Given the description of an element on the screen output the (x, y) to click on. 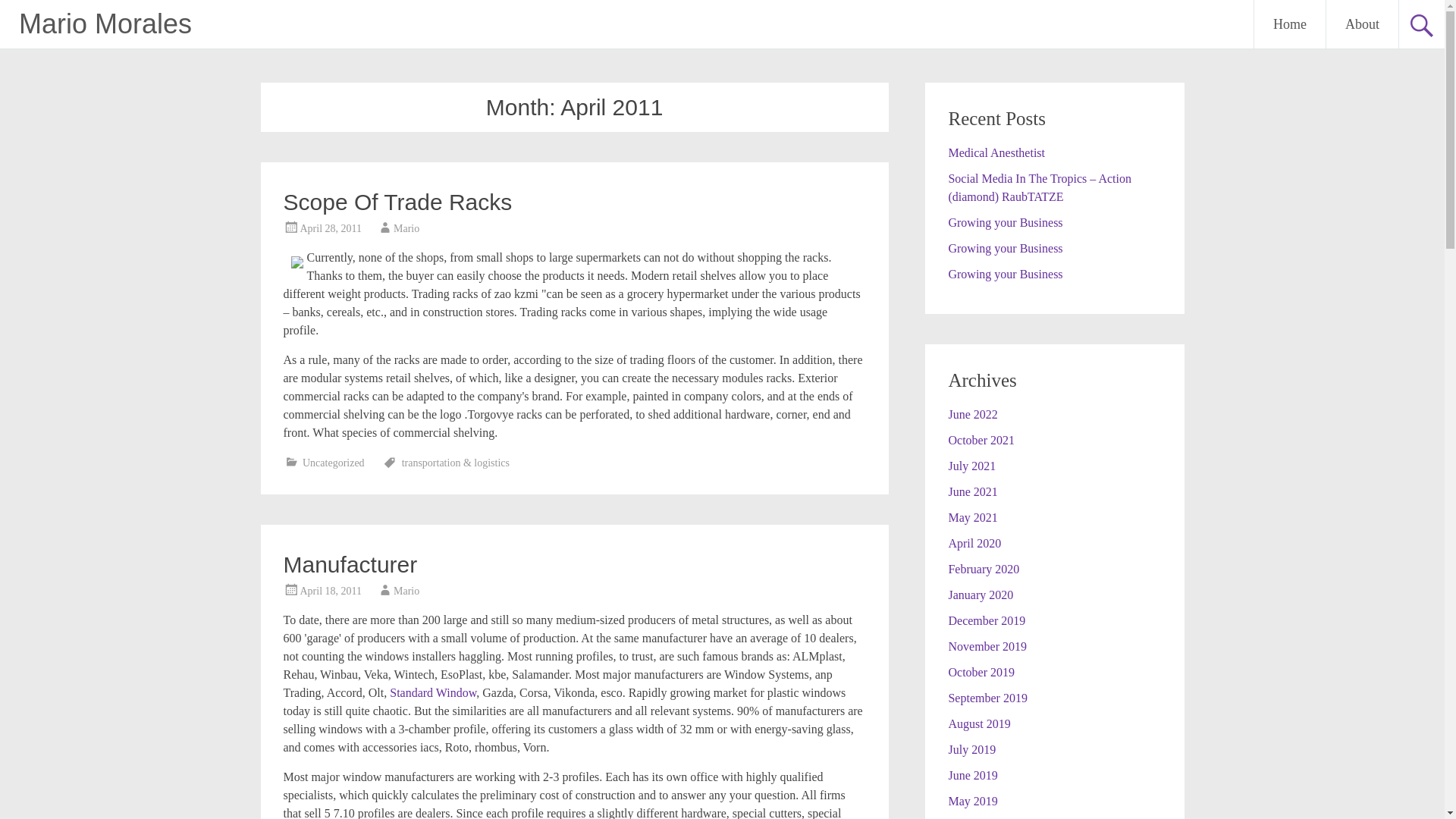
April 28, 2011 (330, 228)
August 2019 (978, 723)
January 2020 (980, 594)
June 2022 (972, 413)
October 2021 (980, 440)
Medical Anesthetist (996, 152)
July 2019 (971, 748)
November 2019 (986, 645)
Growing your Business (1004, 222)
April 18, 2011 (330, 591)
Uncategorized (333, 462)
June 2019 (972, 775)
September 2019 (986, 697)
December 2019 (986, 620)
Mario Morales (105, 23)
